Given the description of an element on the screen output the (x, y) to click on. 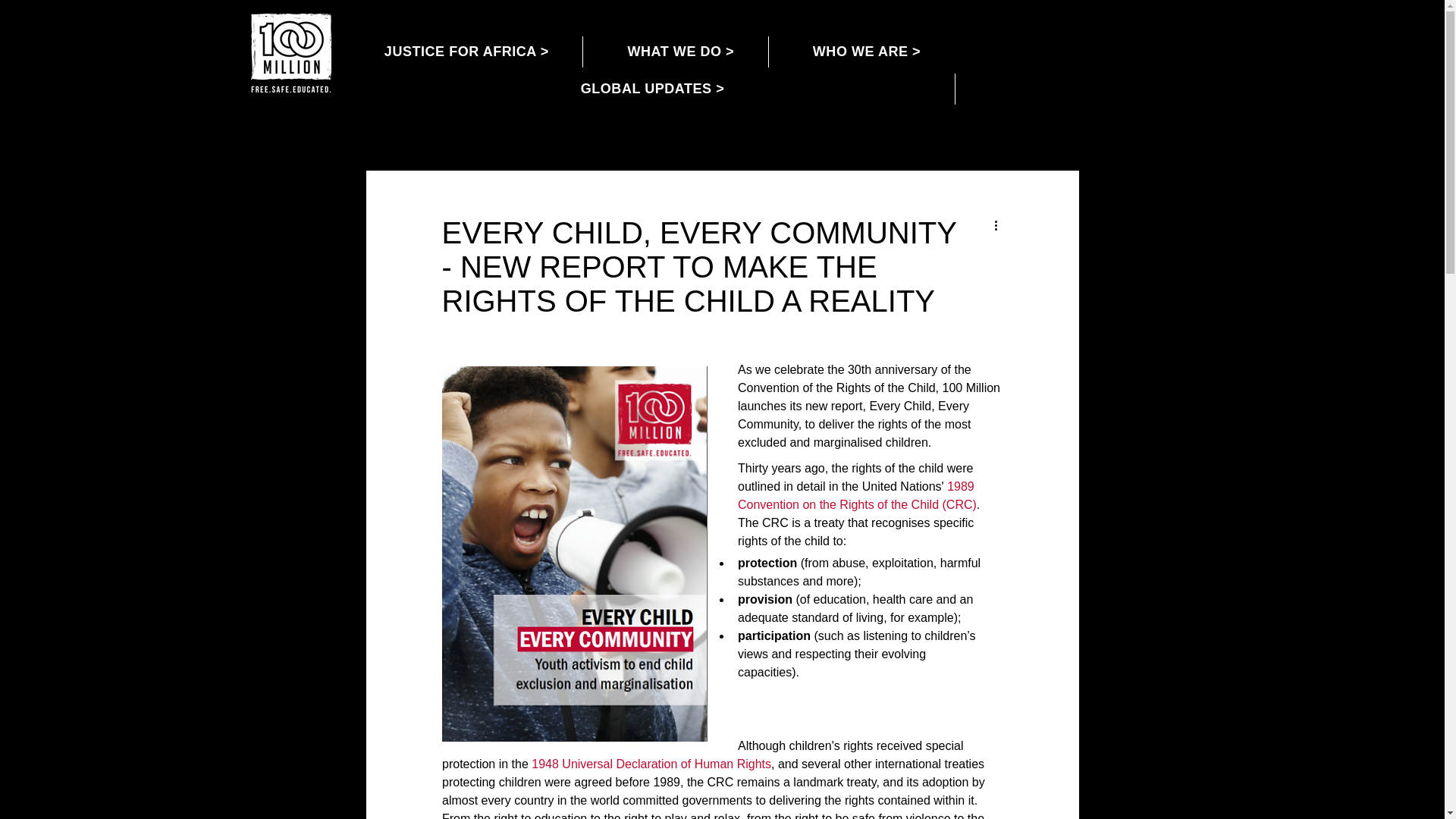
1948 Universal Declaration of Human Rights (651, 763)
